Given the description of an element on the screen output the (x, y) to click on. 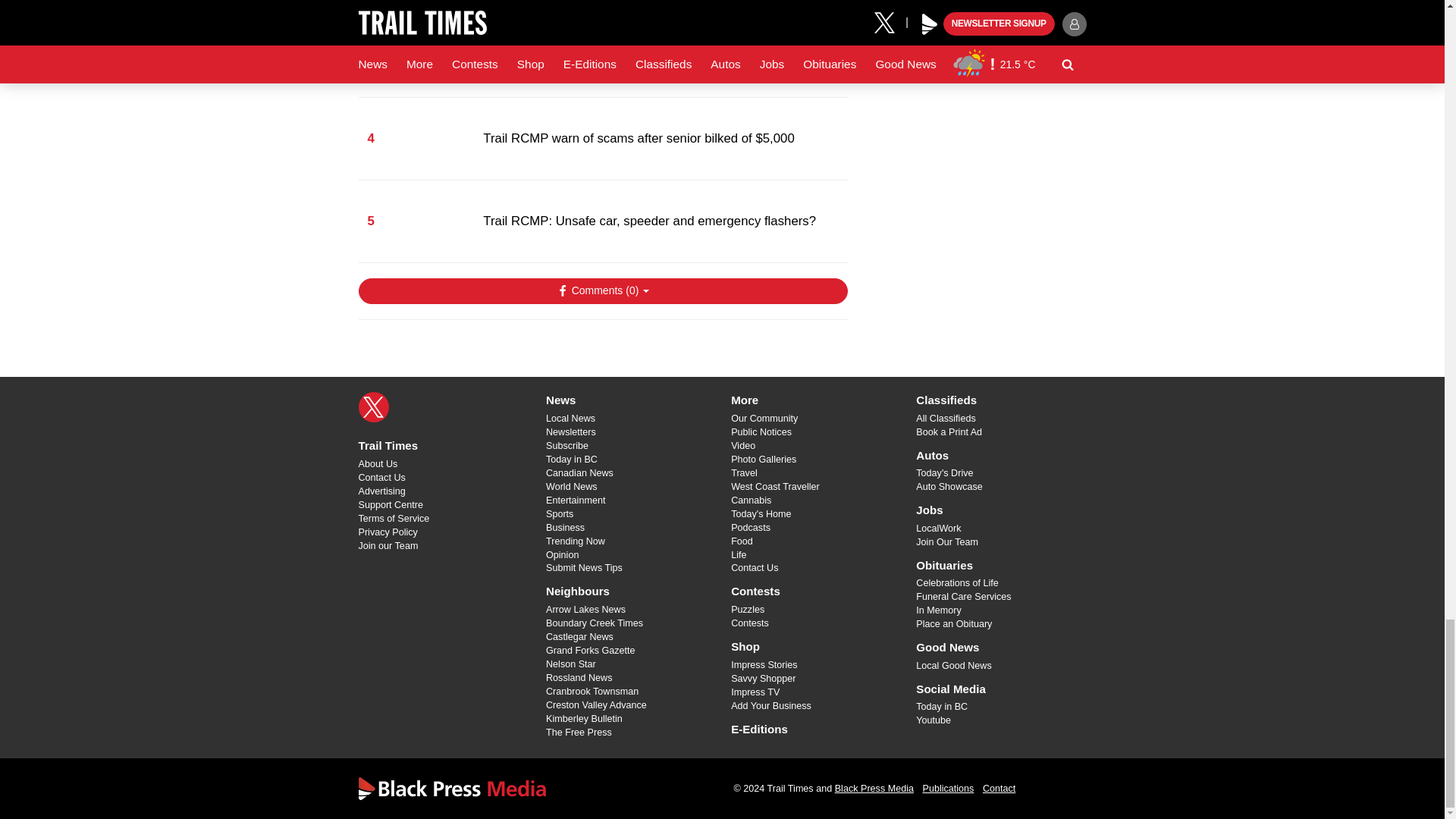
Show Comments (602, 290)
X (373, 407)
